Given the description of an element on the screen output the (x, y) to click on. 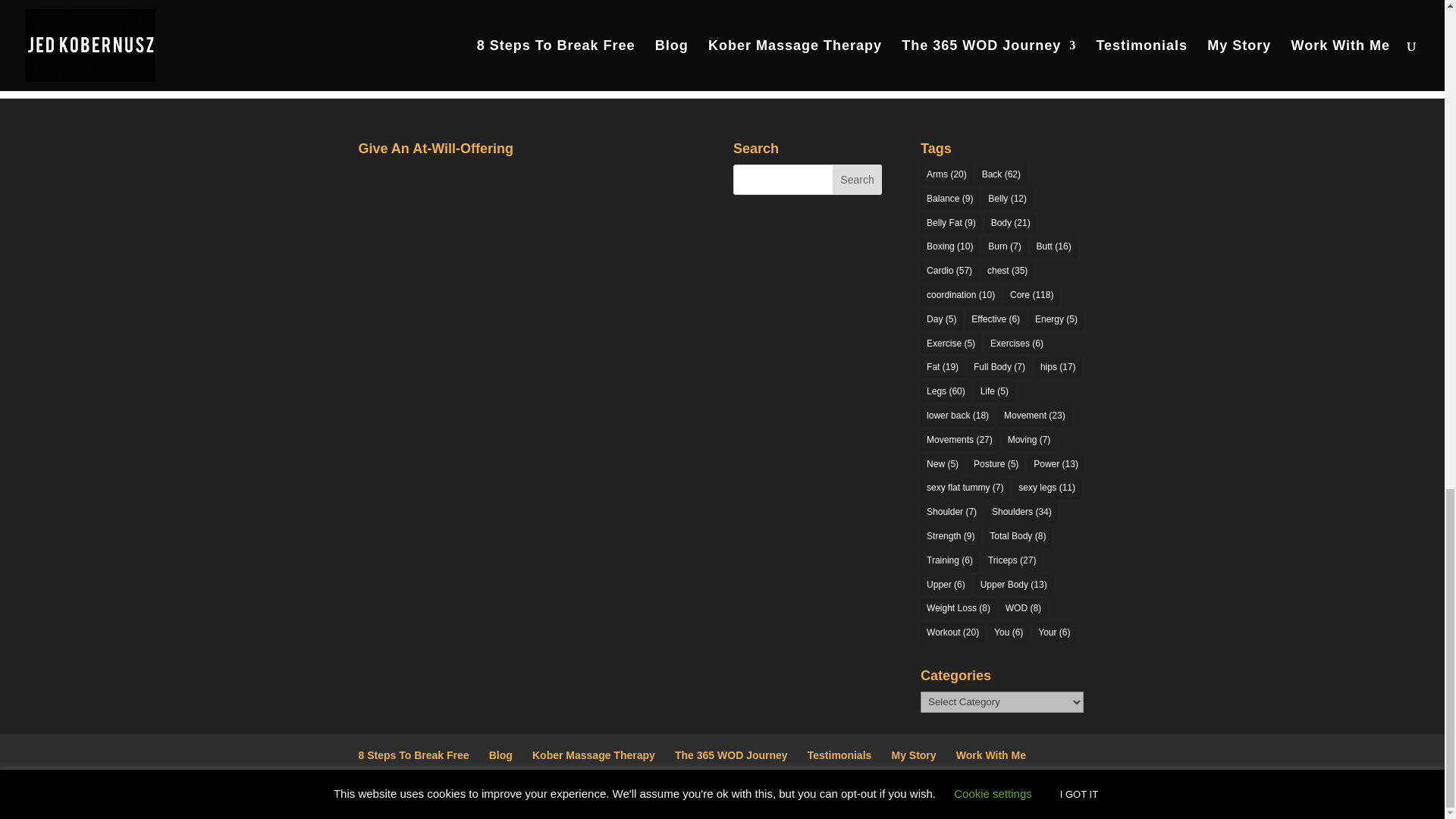
Search (857, 179)
Search (857, 179)
PayPal (435, 222)
